Given the description of an element on the screen output the (x, y) to click on. 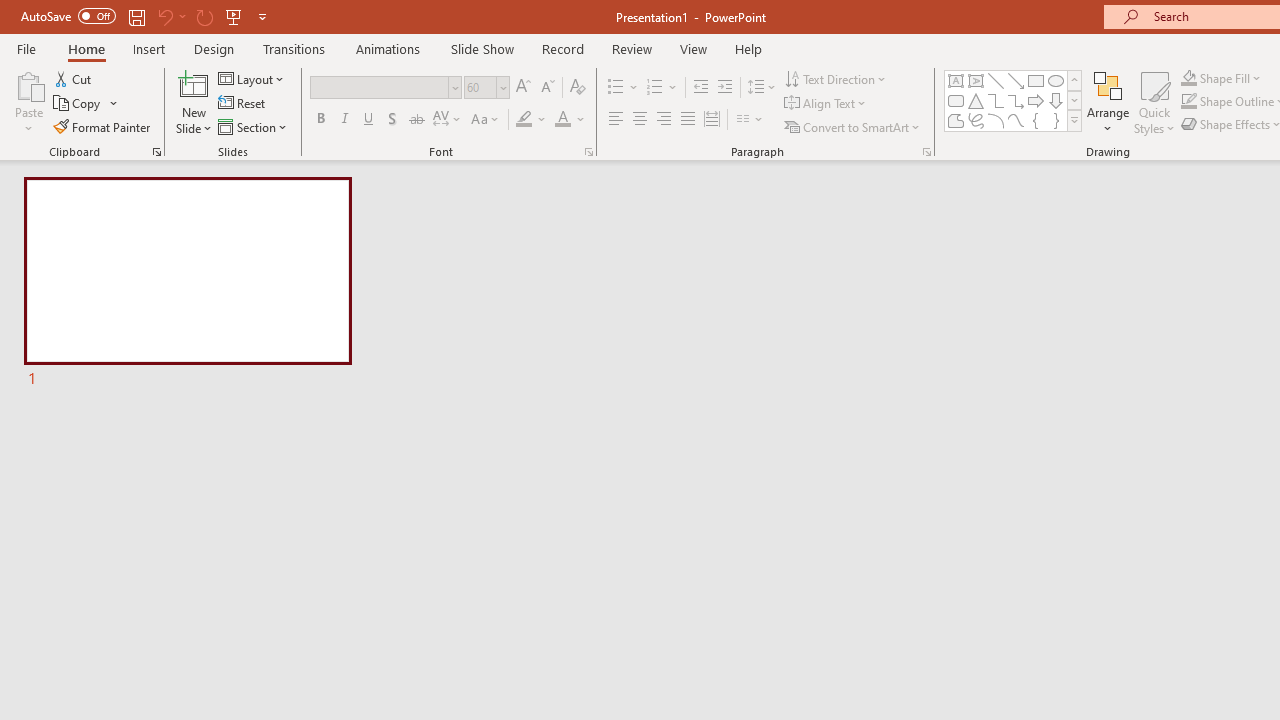
Text Highlight Color (531, 119)
Increase Font Size (522, 87)
New Slide (193, 84)
Shape Outline Blue, Accent 1 (1188, 101)
Cut (73, 78)
More Options (1232, 78)
Shape Fill Orange, Accent 2 (1188, 78)
Review (631, 48)
Font Color (569, 119)
Format Painter (103, 126)
